Given the description of an element on the screen output the (x, y) to click on. 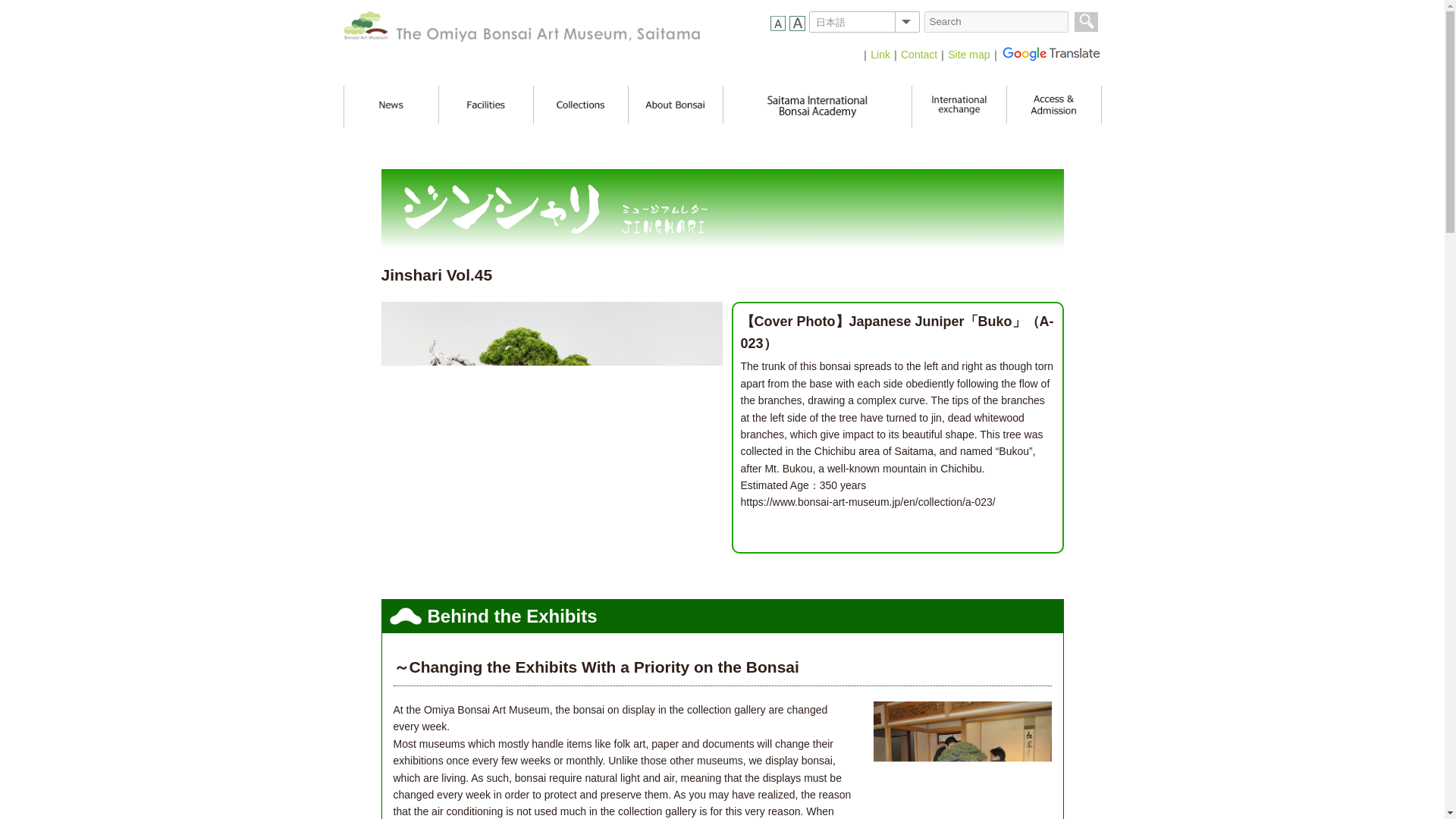
Link (879, 54)
Contact (919, 54)
Site map (968, 54)
